Given the description of an element on the screen output the (x, y) to click on. 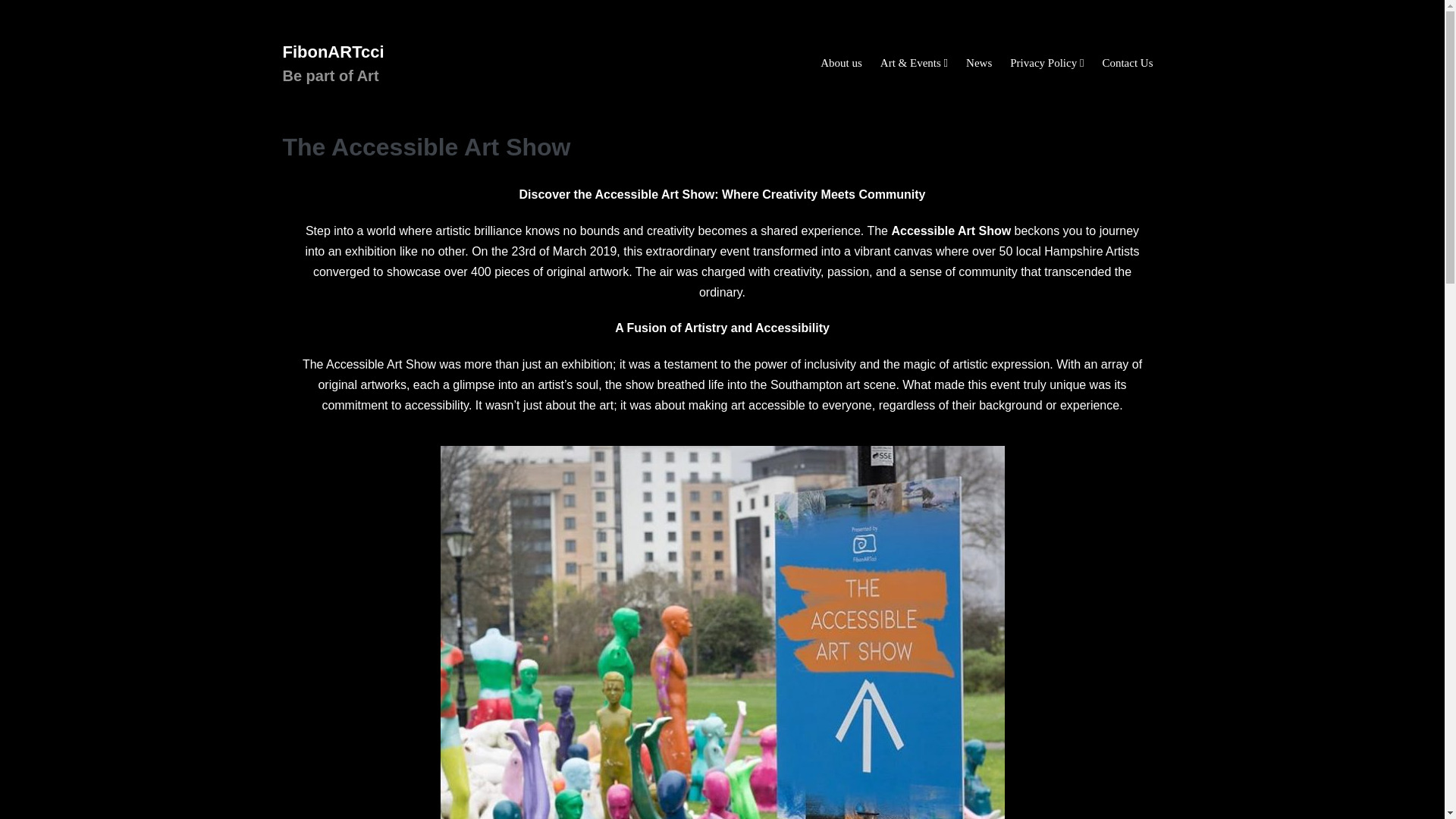
News (978, 63)
Contact Us (1127, 63)
Privacy Policy (1047, 63)
About us (840, 63)
FibonARTcci (333, 51)
